Given the description of an element on the screen output the (x, y) to click on. 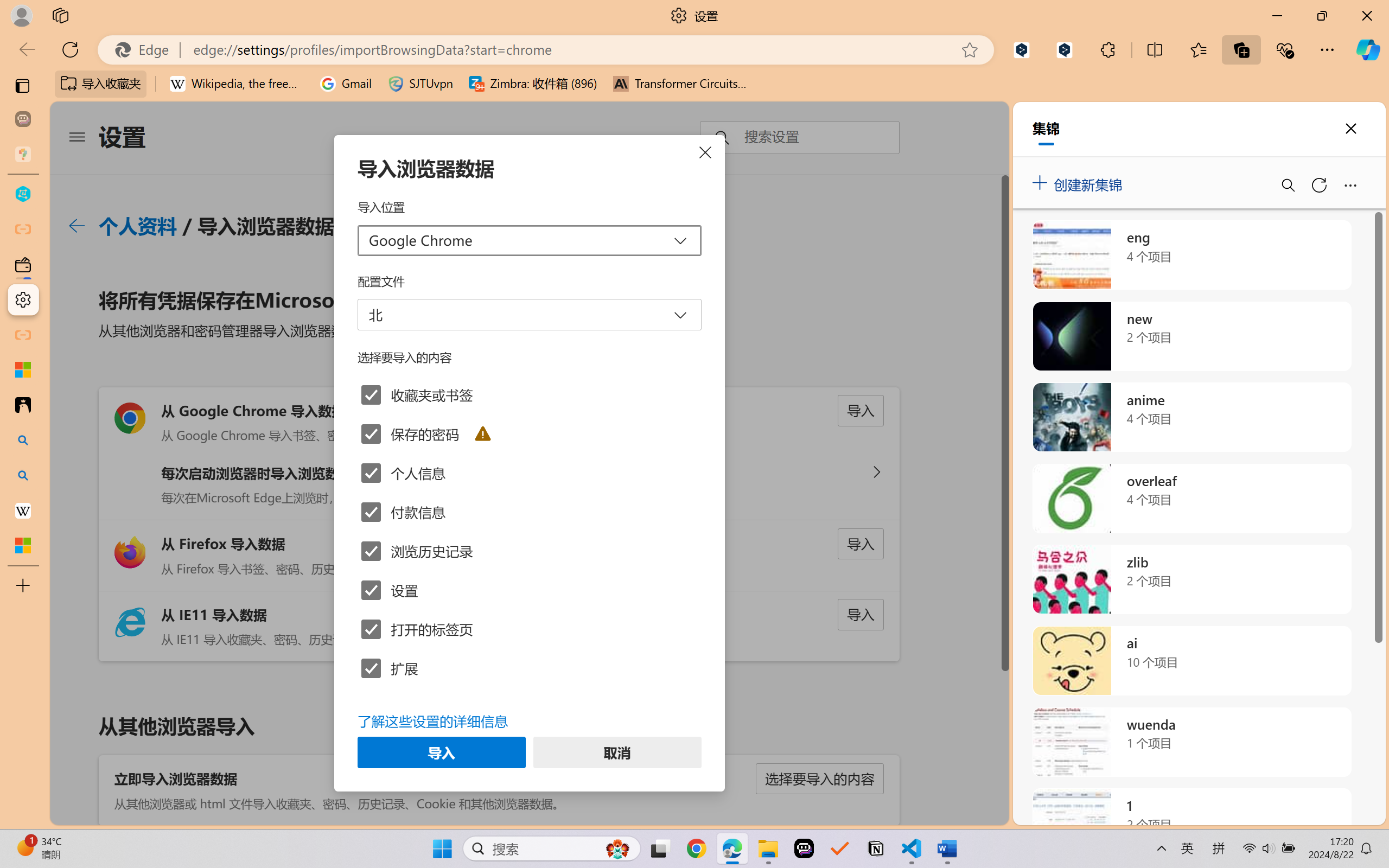
Wikipedia, the free encyclopedia (236, 83)
wangyian_dsw - DSW (22, 194)
